Given the description of an element on the screen output the (x, y) to click on. 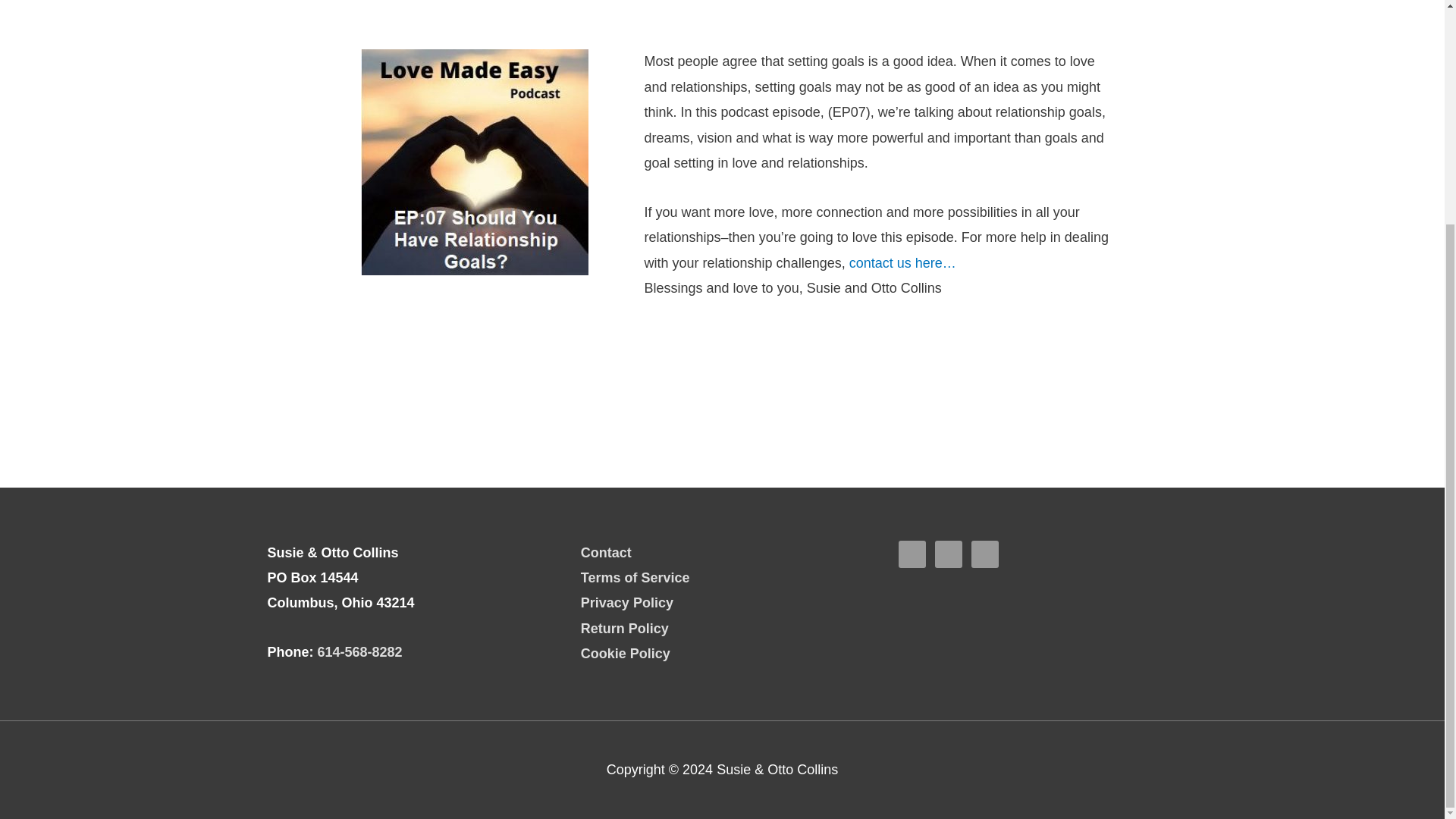
Privacy Policy (626, 602)
614-568-8282 (359, 652)
EP07: Should You Have Relationship Goals? (721, 401)
Terms of Service (635, 577)
Return Policy (624, 628)
Contact (605, 552)
Cookie Policy (624, 653)
ep7-graphic (474, 162)
